Given the description of an element on the screen output the (x, y) to click on. 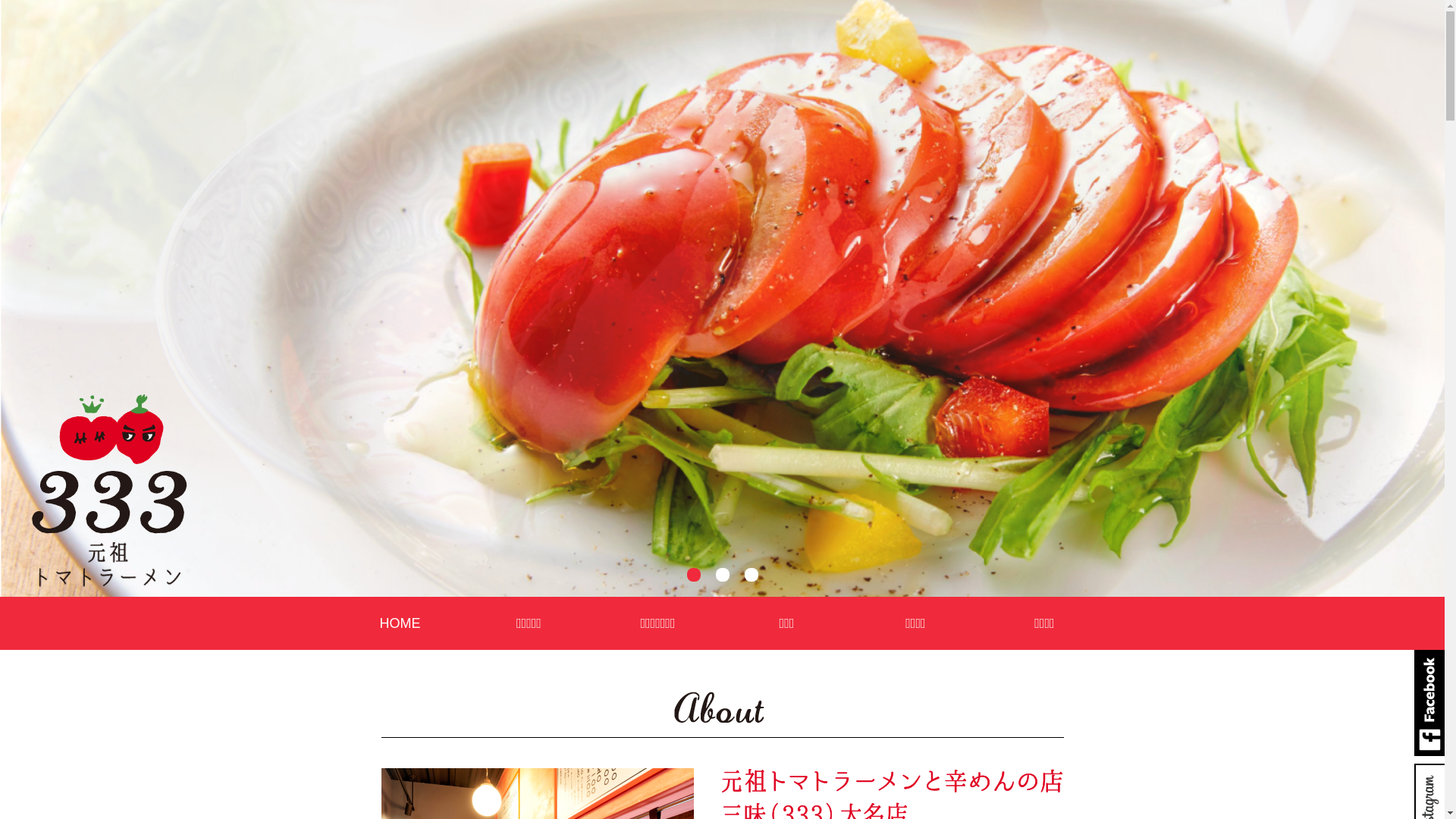
1 Element type: text (693, 574)
HOME Element type: text (399, 622)
2 Element type: text (722, 574)
3 Element type: text (751, 574)
